Given the description of an element on the screen output the (x, y) to click on. 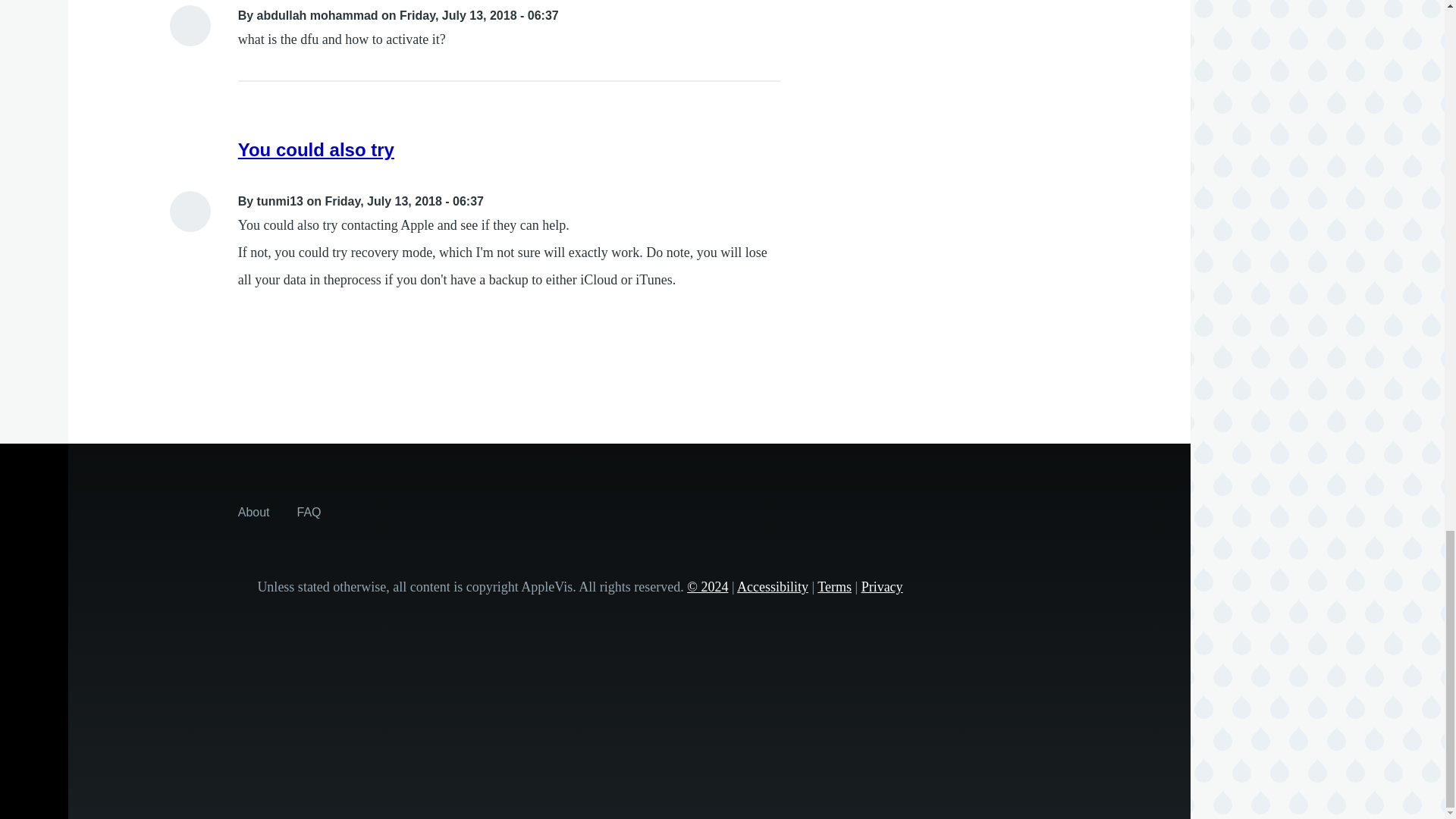
You could also try (316, 149)
Privacy (881, 586)
About (253, 511)
About (253, 511)
Terms (833, 586)
Accessibility (772, 586)
